Given the description of an element on the screen output the (x, y) to click on. 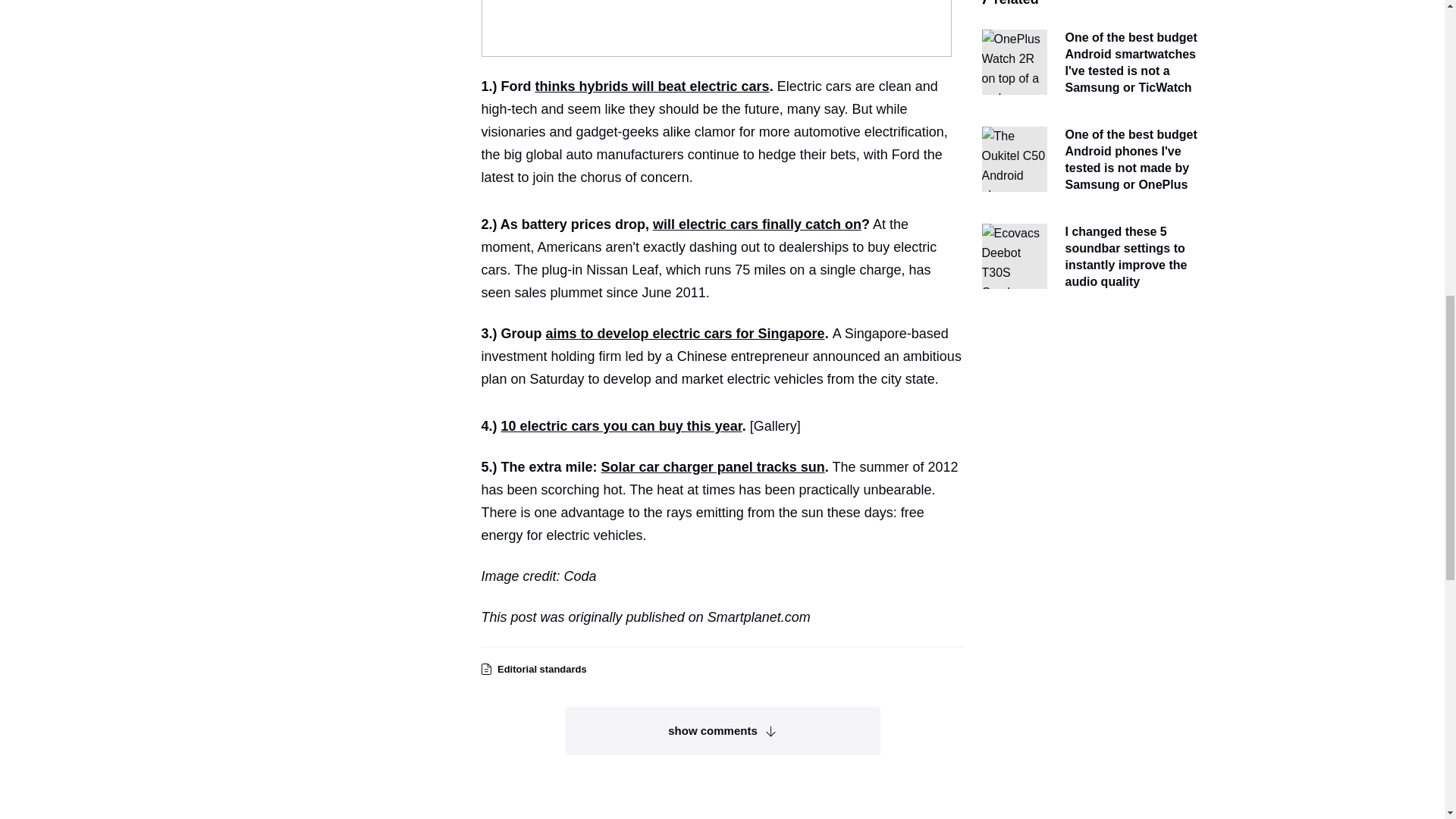
future electric vehicles (715, 28)
